Given the description of an element on the screen output the (x, y) to click on. 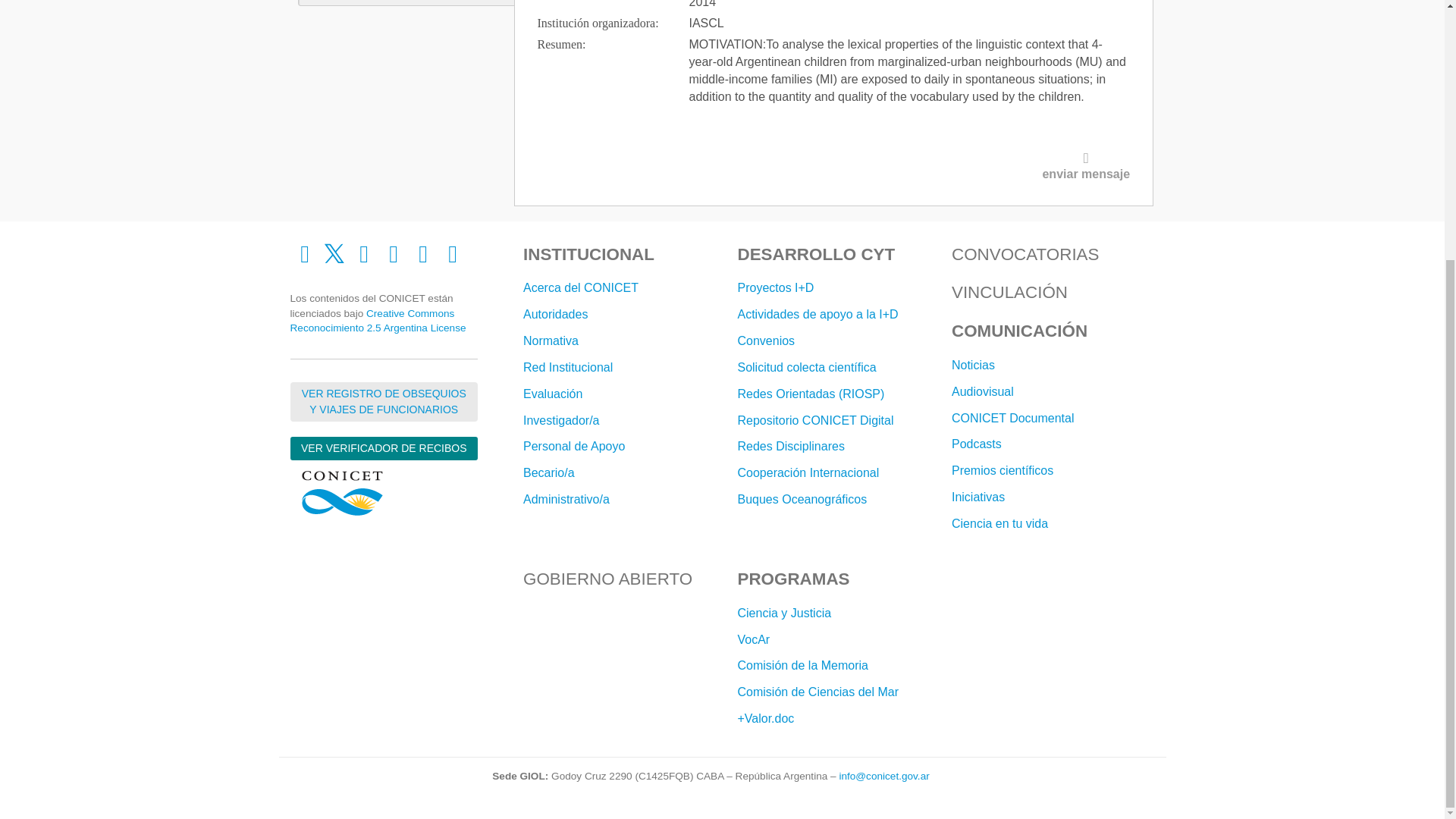
Ver Registro de Obsequios y Viajes de Funcionarios (383, 401)
Ver verificador de recibos (383, 448)
